Given the description of an element on the screen output the (x, y) to click on. 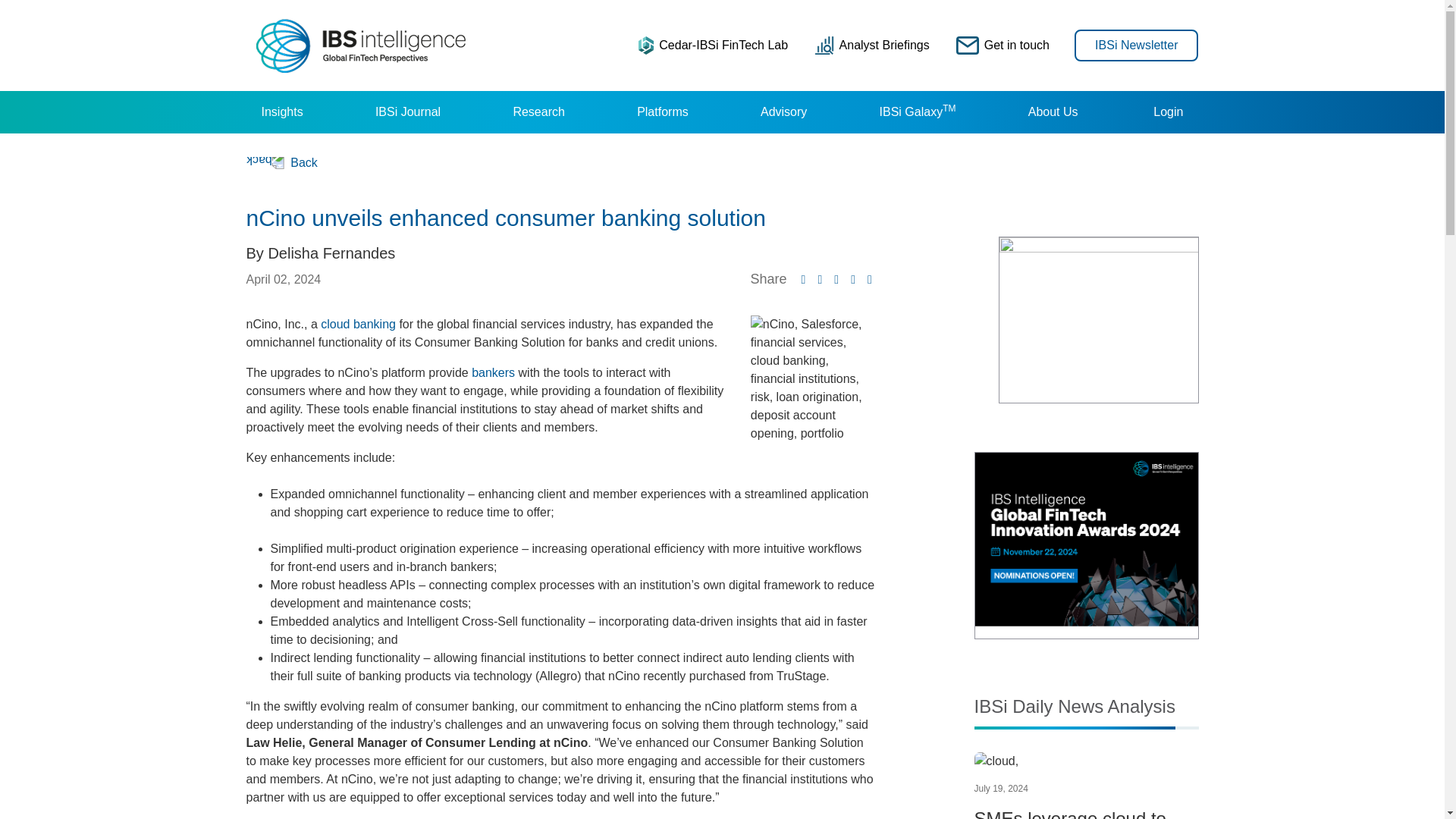
Insights (281, 111)
Get in touch (1002, 45)
Cedar-IBSi FinTech Lab (712, 45)
IBSi Newsletter (1136, 44)
Analyst Briefings (871, 45)
Research (538, 111)
IBSi Journal (407, 111)
